Given the description of an element on the screen output the (x, y) to click on. 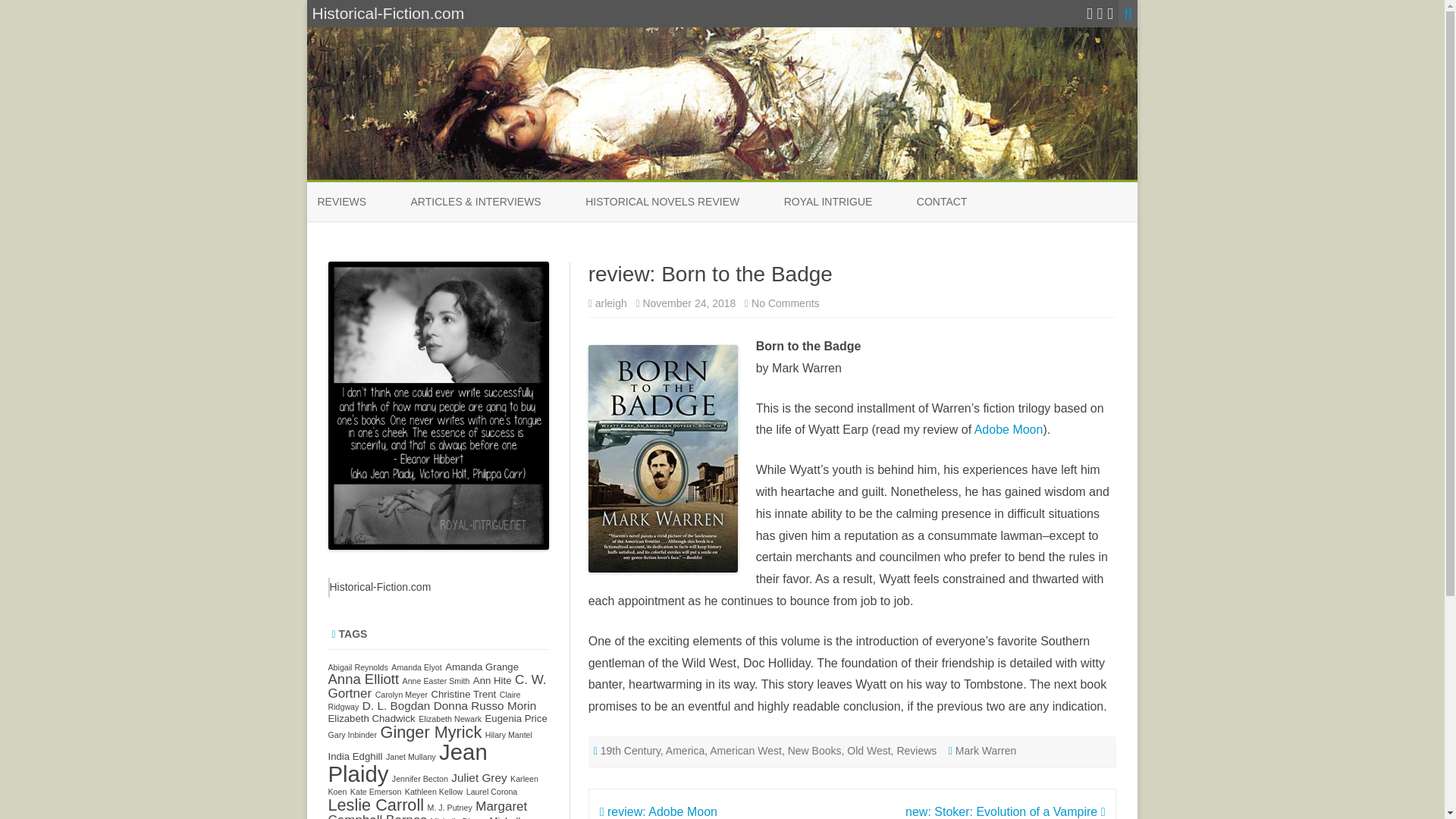
Anna Elliott (362, 678)
Mark Warren (985, 750)
Reviews (916, 750)
Adobe Moon (1008, 429)
Old West (868, 750)
new: Stoker: Evolution of a Vampire (1005, 811)
America (684, 750)
REVIEWS (341, 201)
ROYAL INTRIGUE (828, 201)
arleigh (784, 303)
Skip to content (611, 303)
New Books (416, 666)
